Given the description of an element on the screen output the (x, y) to click on. 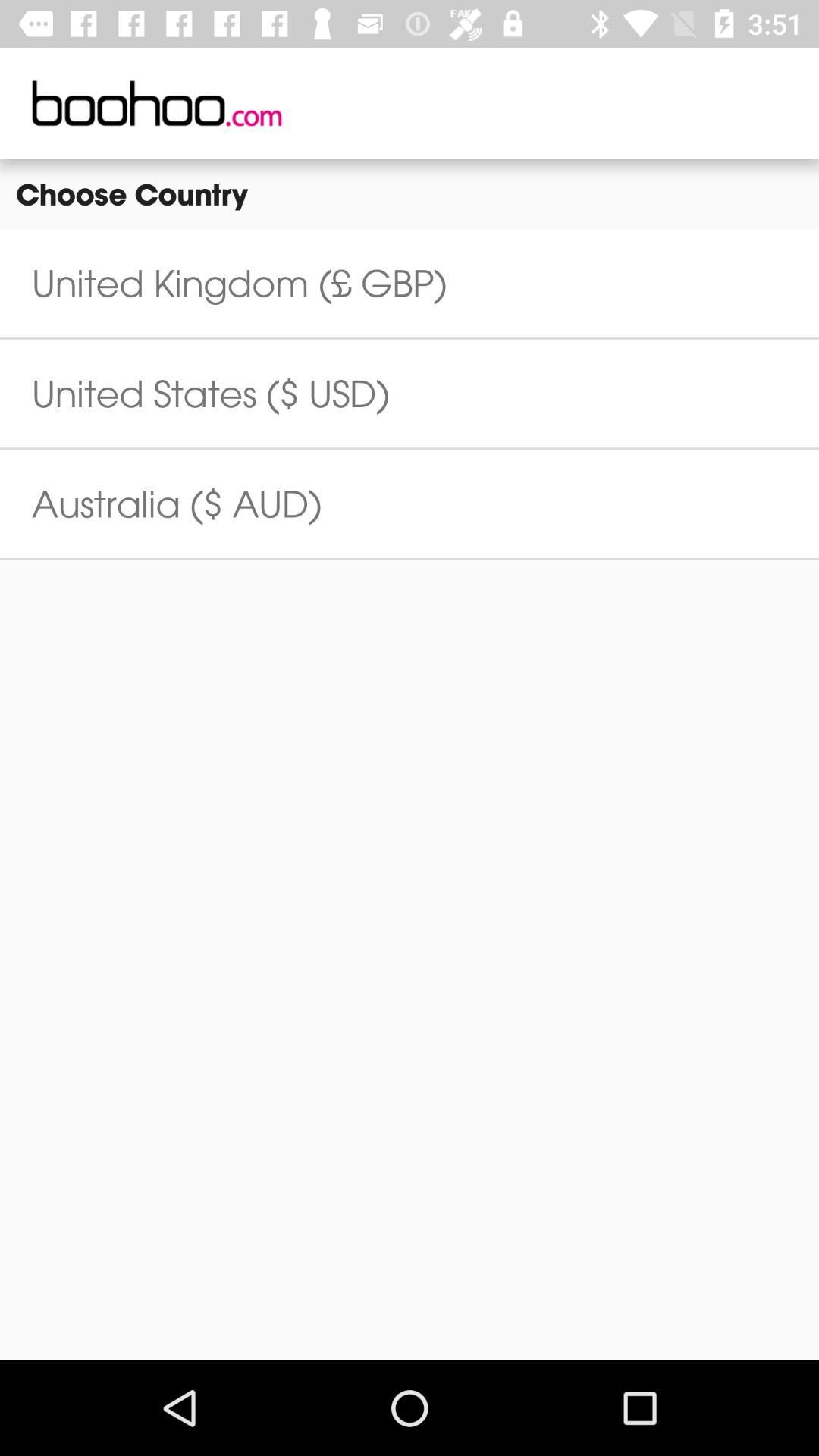
choose the icon below the choose country item (239, 283)
